Given the description of an element on the screen output the (x, y) to click on. 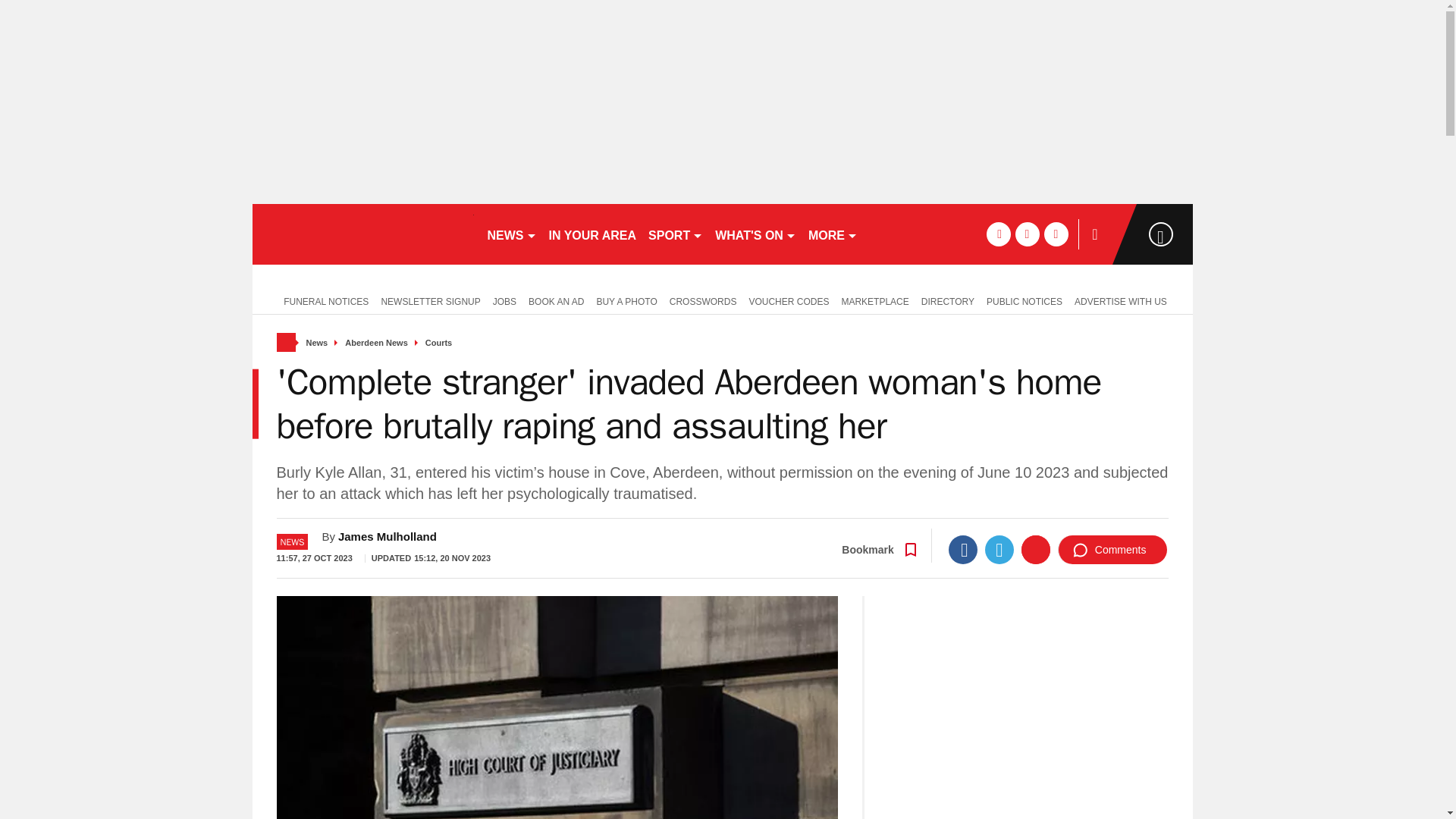
NEWSLETTER SIGNUP (430, 300)
SPORT (675, 233)
WHAT'S ON (755, 233)
FUNERAL NOTICES (322, 300)
NEWS (510, 233)
Comments (1112, 549)
instagram (1055, 233)
twitter (1026, 233)
Facebook (962, 549)
BOOK AN AD (555, 300)
BUY A PHOTO (625, 300)
facebook (997, 233)
CROSSWORDS (702, 300)
IN YOUR AREA (593, 233)
Twitter (999, 549)
